Given the description of an element on the screen output the (x, y) to click on. 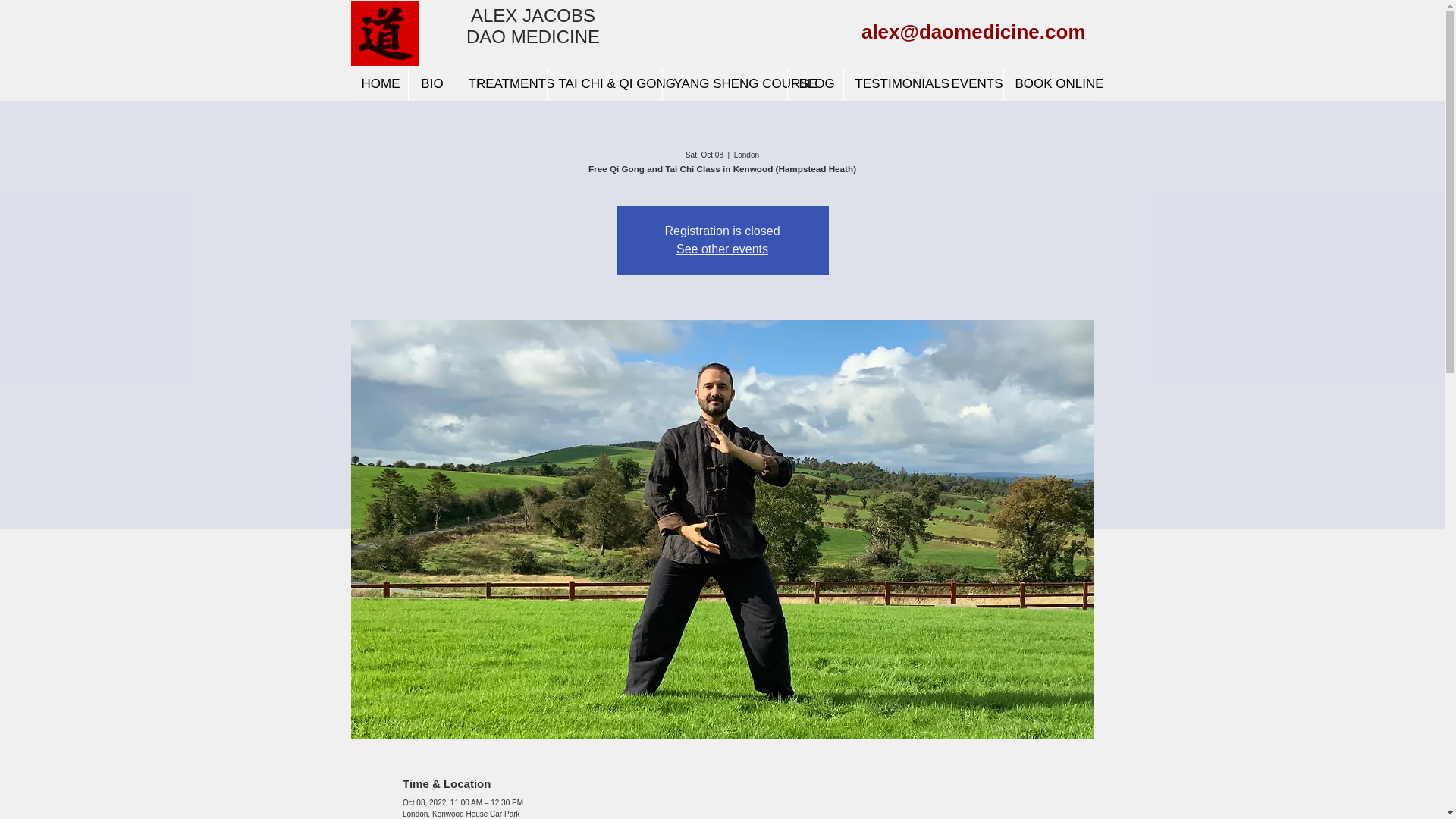
TESTIMONIALS (891, 83)
TREATMENTS (502, 83)
BIO (432, 83)
See other events (722, 248)
BOOK ONLINE (1048, 83)
BLOG (815, 83)
YANG SHENG COURSE (723, 83)
EVENTS (971, 83)
HOME (378, 83)
